Given the description of an element on the screen output the (x, y) to click on. 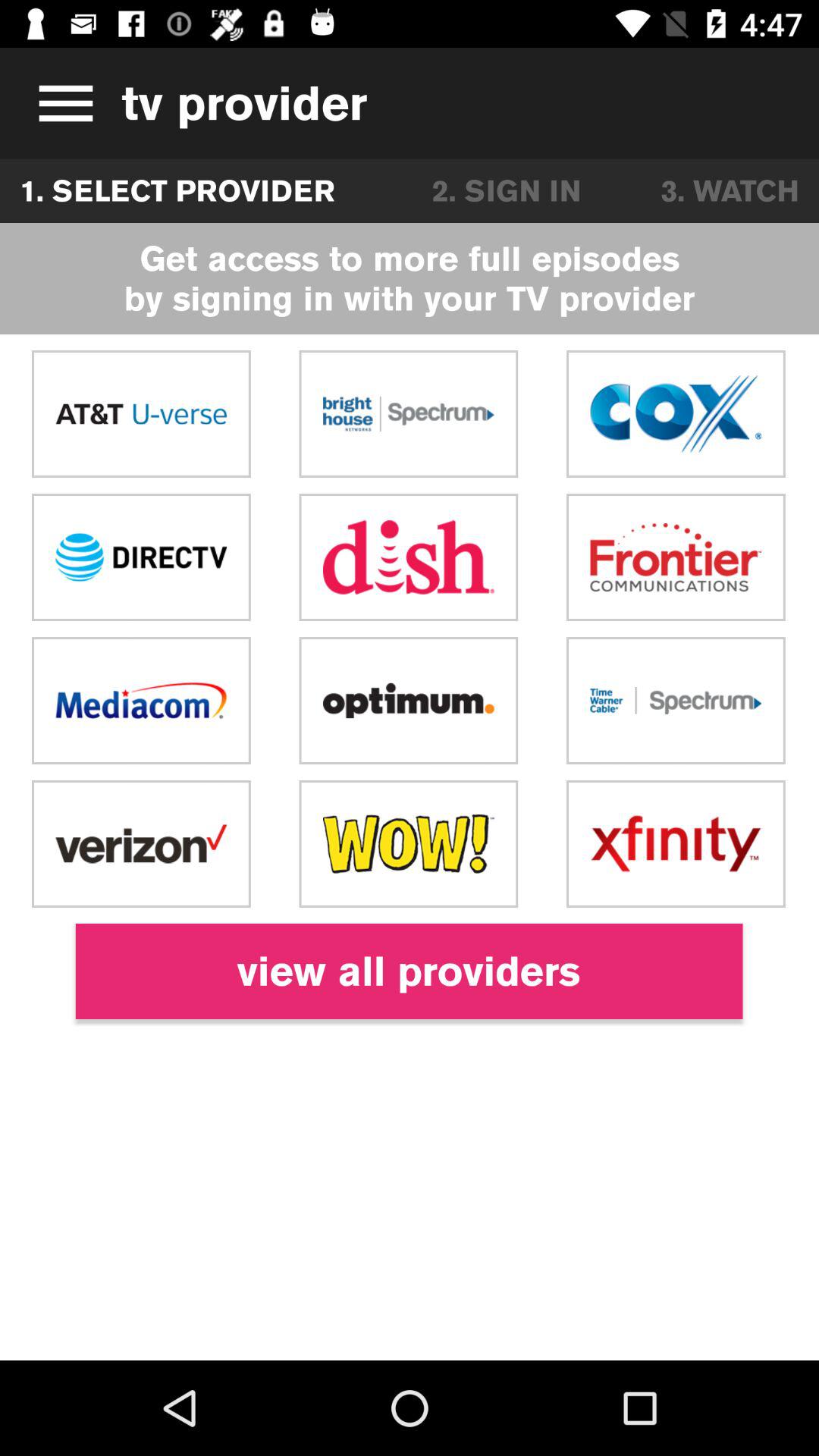
open icon above 1. select provider icon (60, 103)
